Given the description of an element on the screen output the (x, y) to click on. 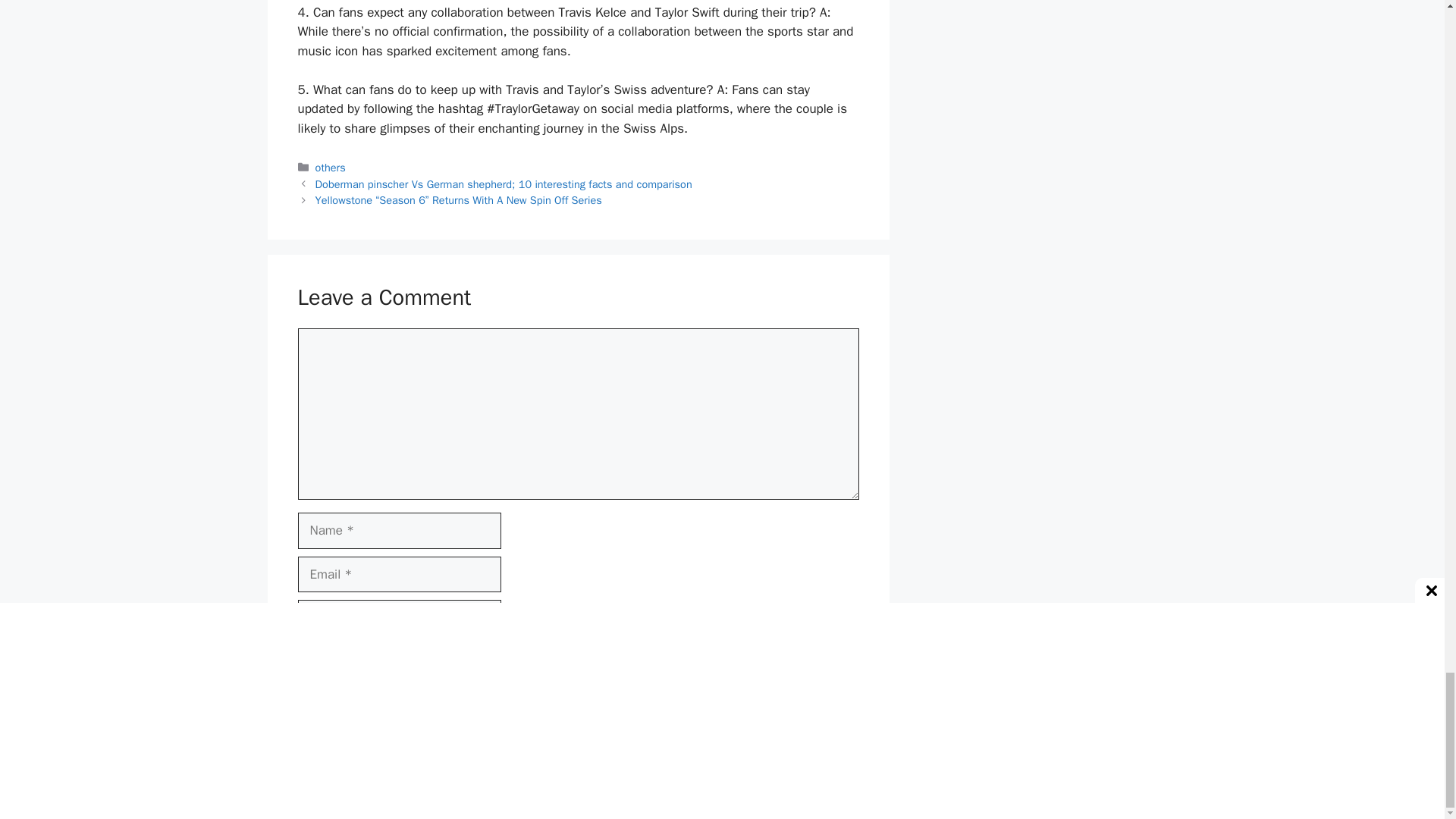
GeneratePress (815, 794)
yes (302, 653)
Post Comment (354, 700)
Post Comment (354, 700)
others (330, 167)
